Given the description of an element on the screen output the (x, y) to click on. 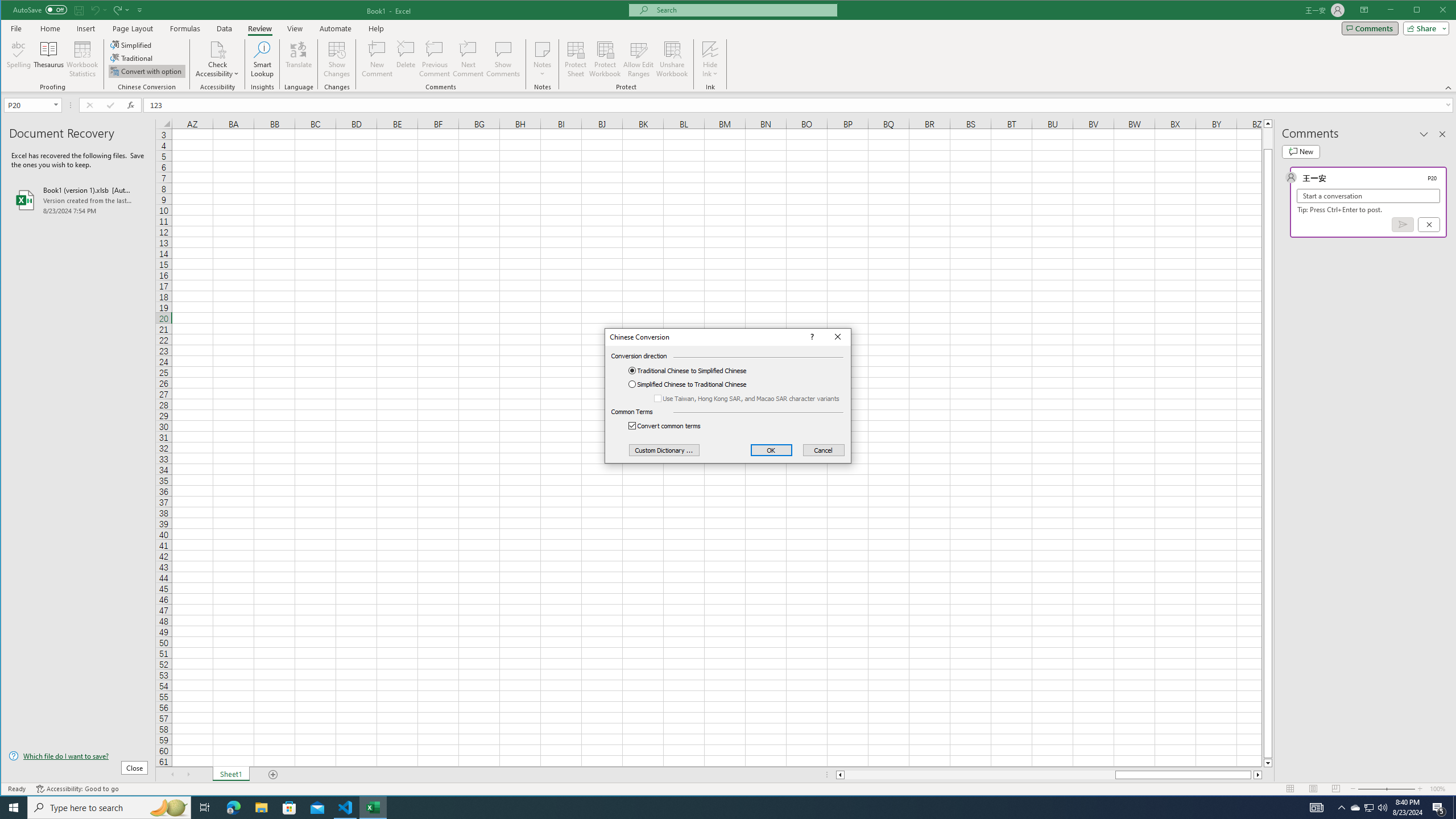
Post comment (Ctrl + Enter) (1402, 224)
Smart Lookup (261, 59)
Notes (541, 59)
Simplified (1355, 807)
Check Accessibility (132, 44)
Running applications (217, 59)
Protect Workbook... (717, 807)
Type here to search (604, 59)
Spelling... (108, 807)
